Given the description of an element on the screen output the (x, y) to click on. 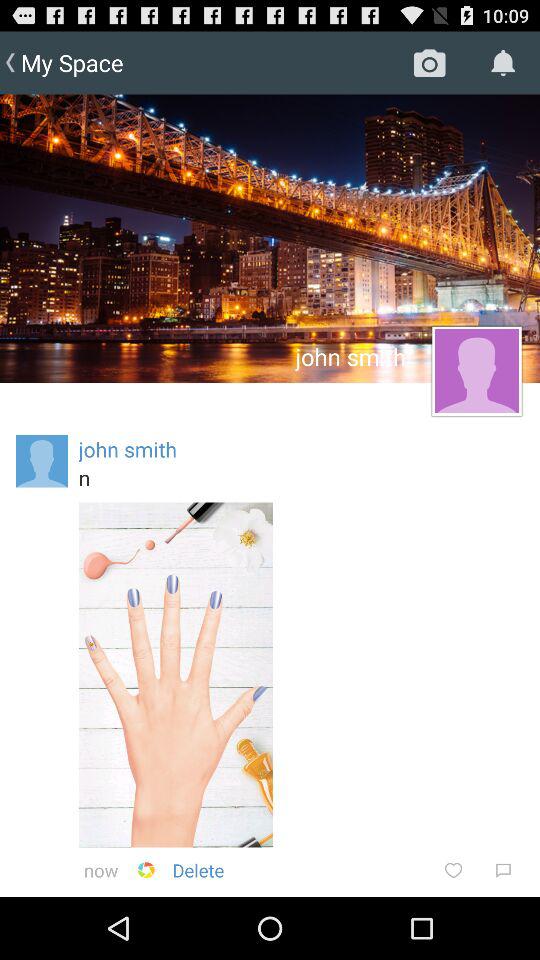
turn off item at the bottom (198, 870)
